Given the description of an element on the screen output the (x, y) to click on. 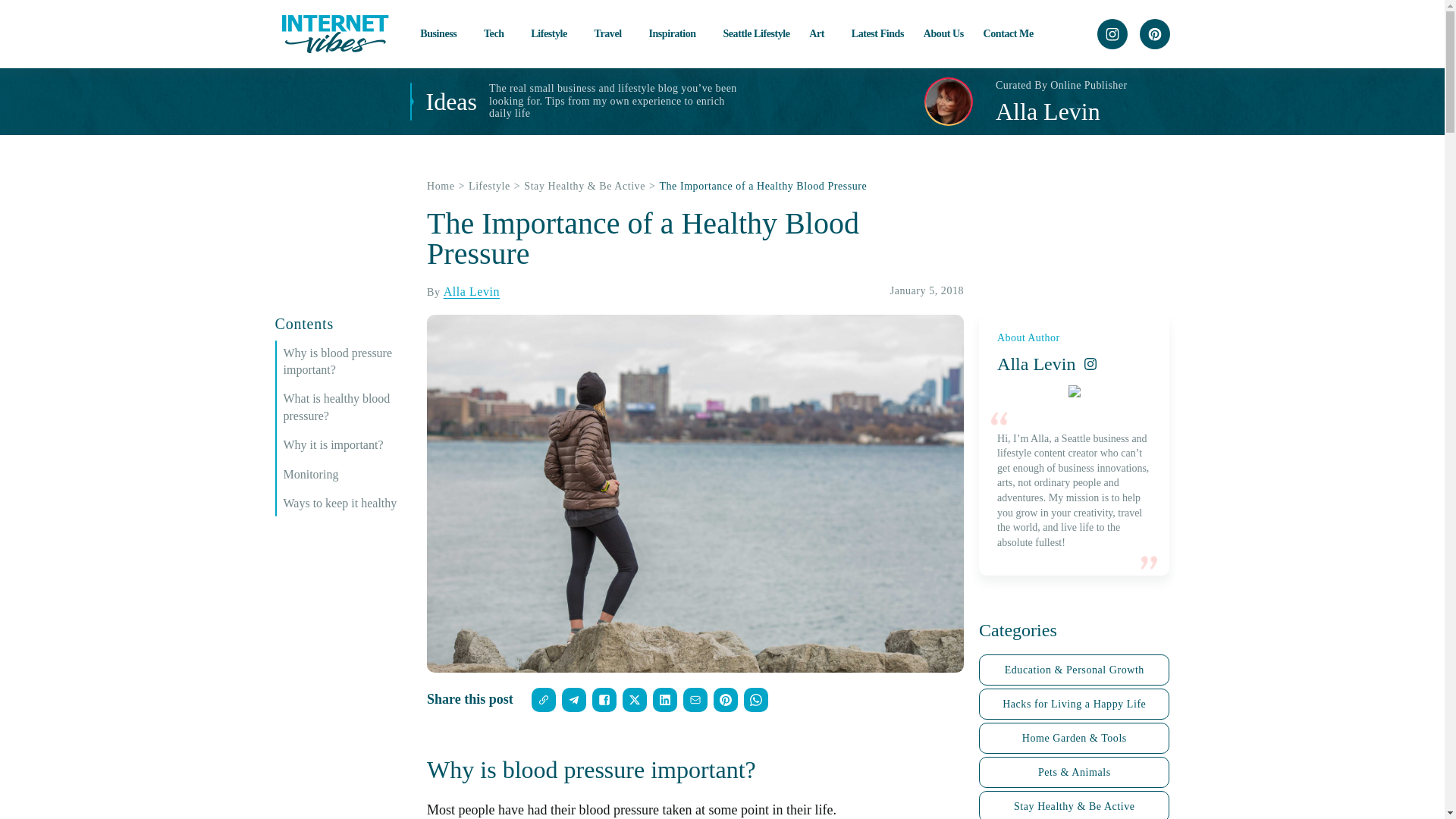
What is healthy blood pressure? (347, 407)
Tech (497, 33)
Business (442, 33)
Ways to keep it healthy (347, 503)
Lifestyle (553, 33)
Why is blood pressure important? (347, 361)
Travel (611, 33)
Inspiration (675, 33)
Why it is important? (347, 444)
